Given the description of an element on the screen output the (x, y) to click on. 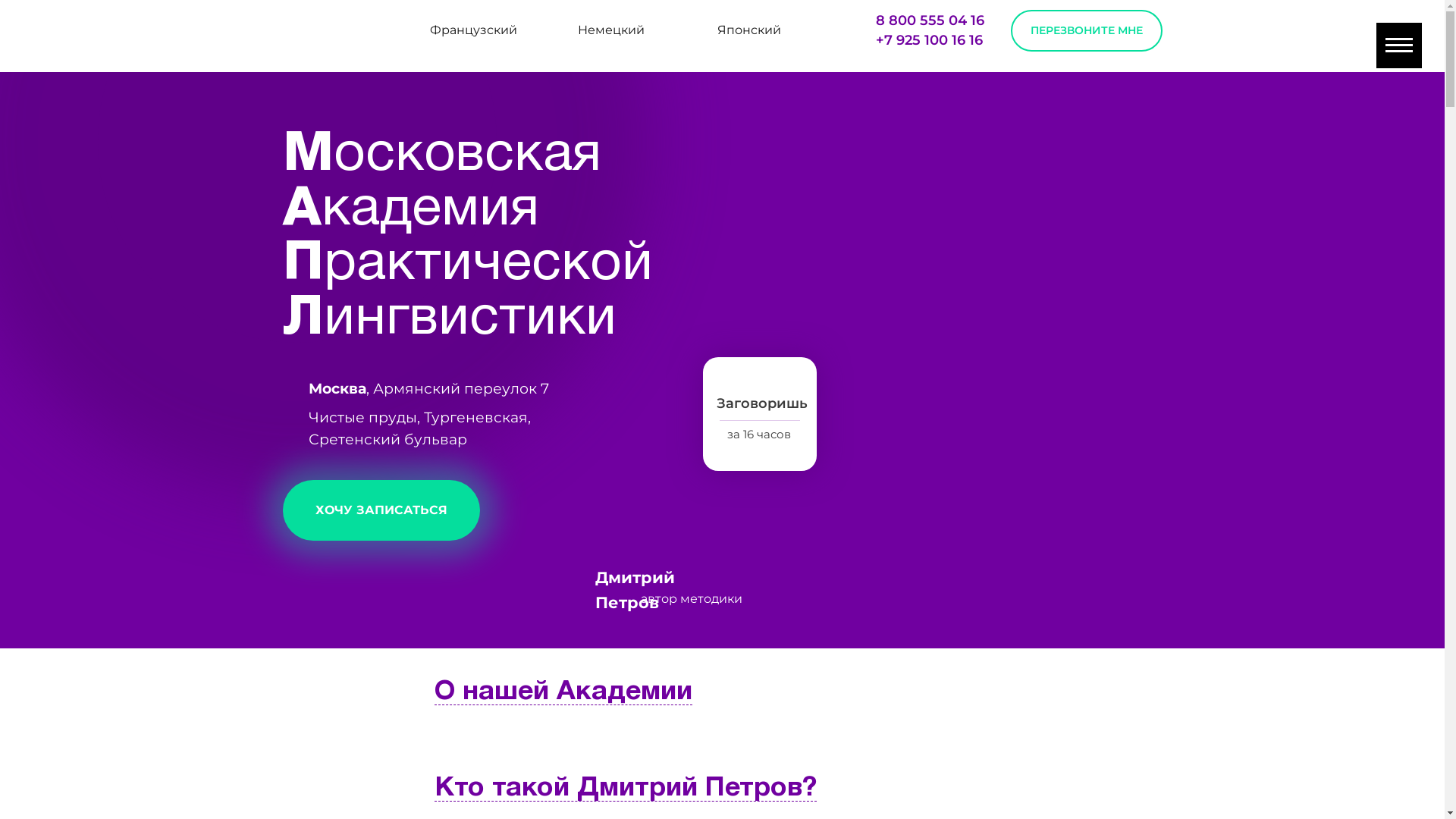
8 800 555 04 16 Element type: text (929, 20)
+7 925 100 16 16 Element type: text (928, 39)
